Given the description of an element on the screen output the (x, y) to click on. 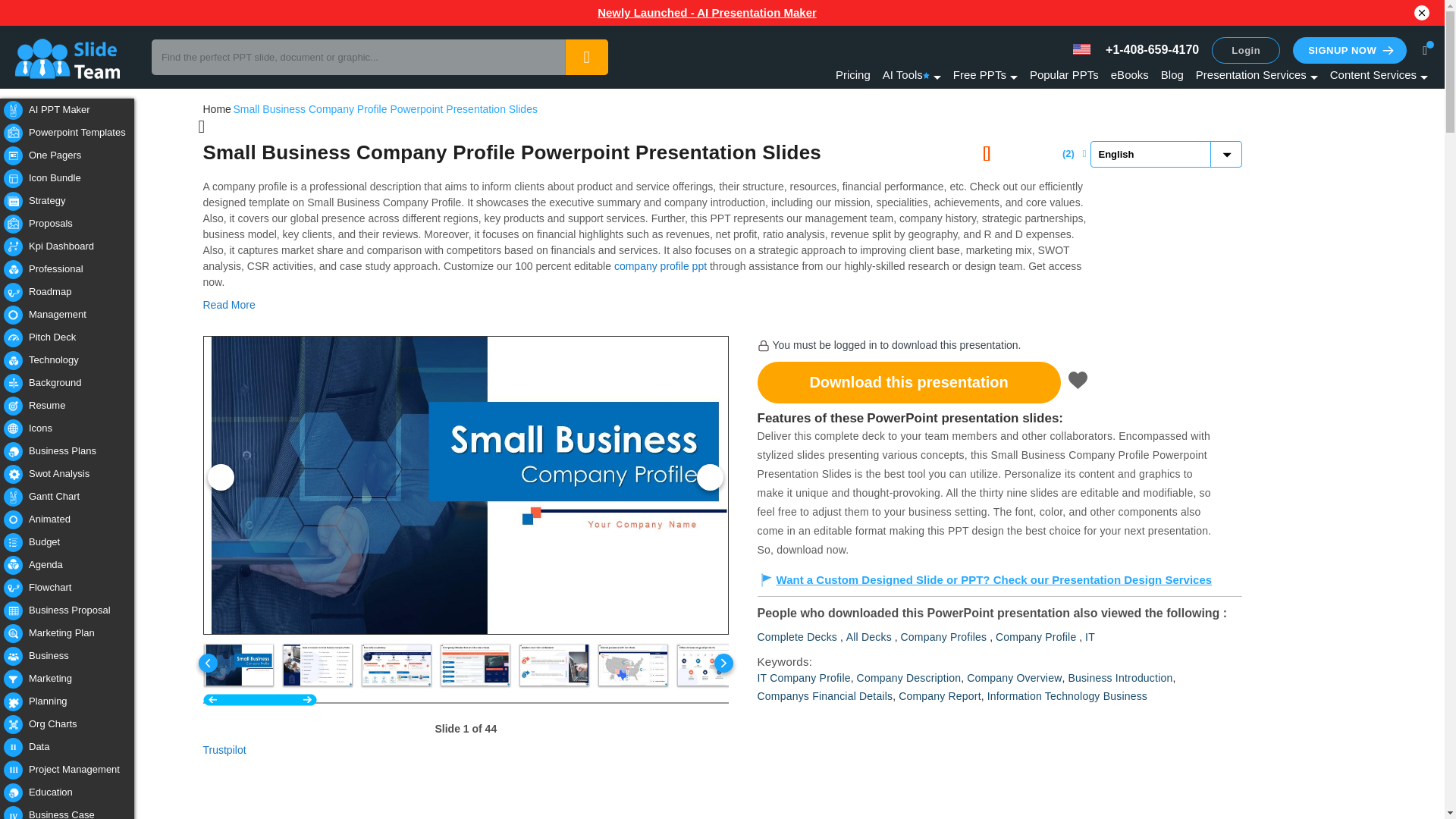
Newly Launched - AI Presentation Maker (706, 13)
AI Tools (911, 74)
Login (1245, 49)
Search (586, 57)
Content Services (1379, 74)
Pricing (852, 74)
Blog (1171, 74)
Content Services (1379, 74)
Free PPTs (985, 74)
Pricing (852, 74)
